Given the description of an element on the screen output the (x, y) to click on. 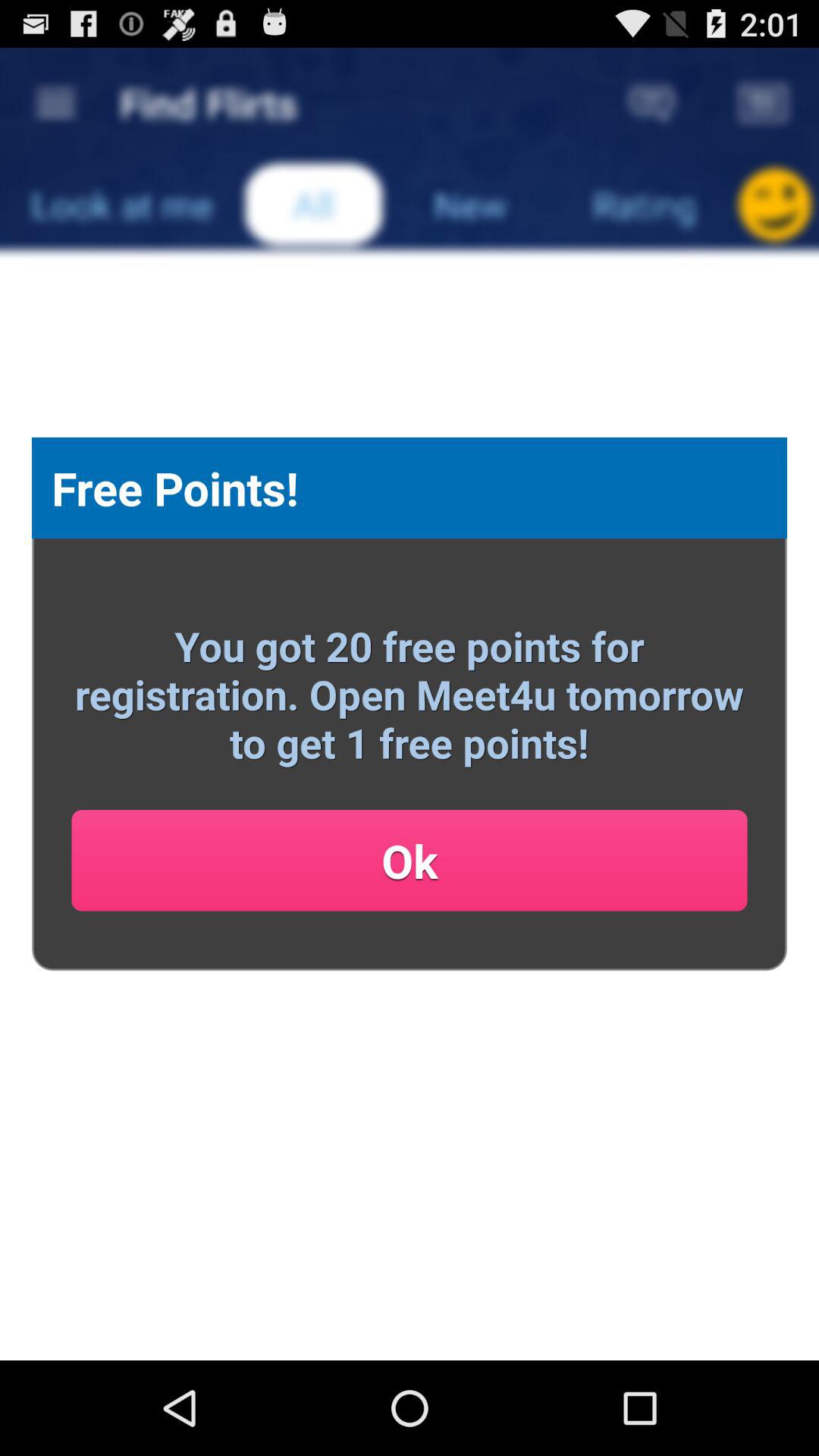
press the item below the you got 20 (409, 860)
